Given the description of an element on the screen output the (x, y) to click on. 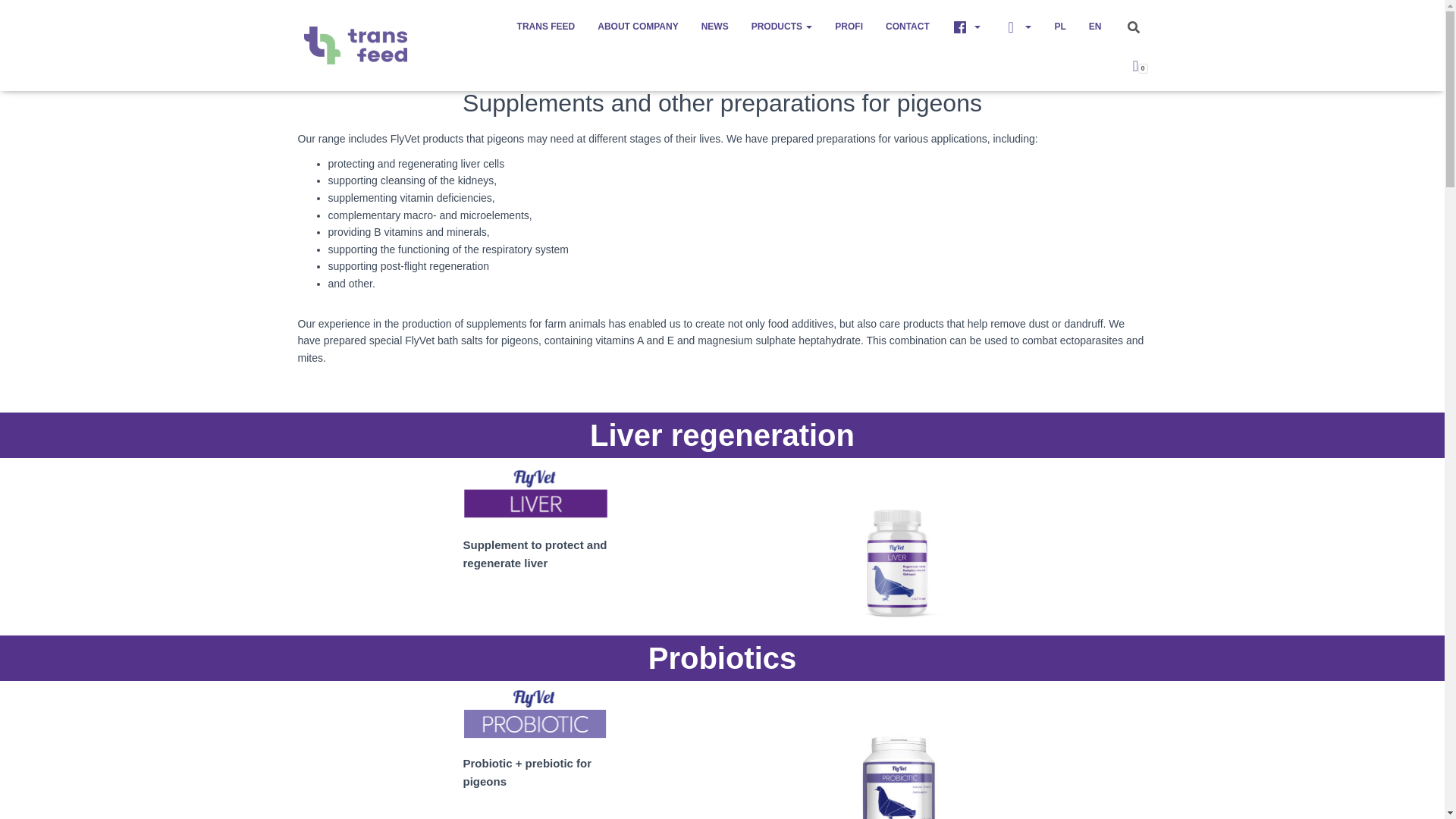
PL (1059, 26)
PRODUCTS (781, 26)
ABOUT COMPANY (637, 26)
Facebook (965, 26)
Profi (849, 26)
Contact (907, 26)
CONTACT (907, 26)
FACEBOOK (965, 26)
News (714, 26)
PROFI (849, 26)
Products (781, 26)
EN (1095, 26)
About company (637, 26)
0 (1135, 64)
Trans Feed (545, 26)
